Given the description of an element on the screen output the (x, y) to click on. 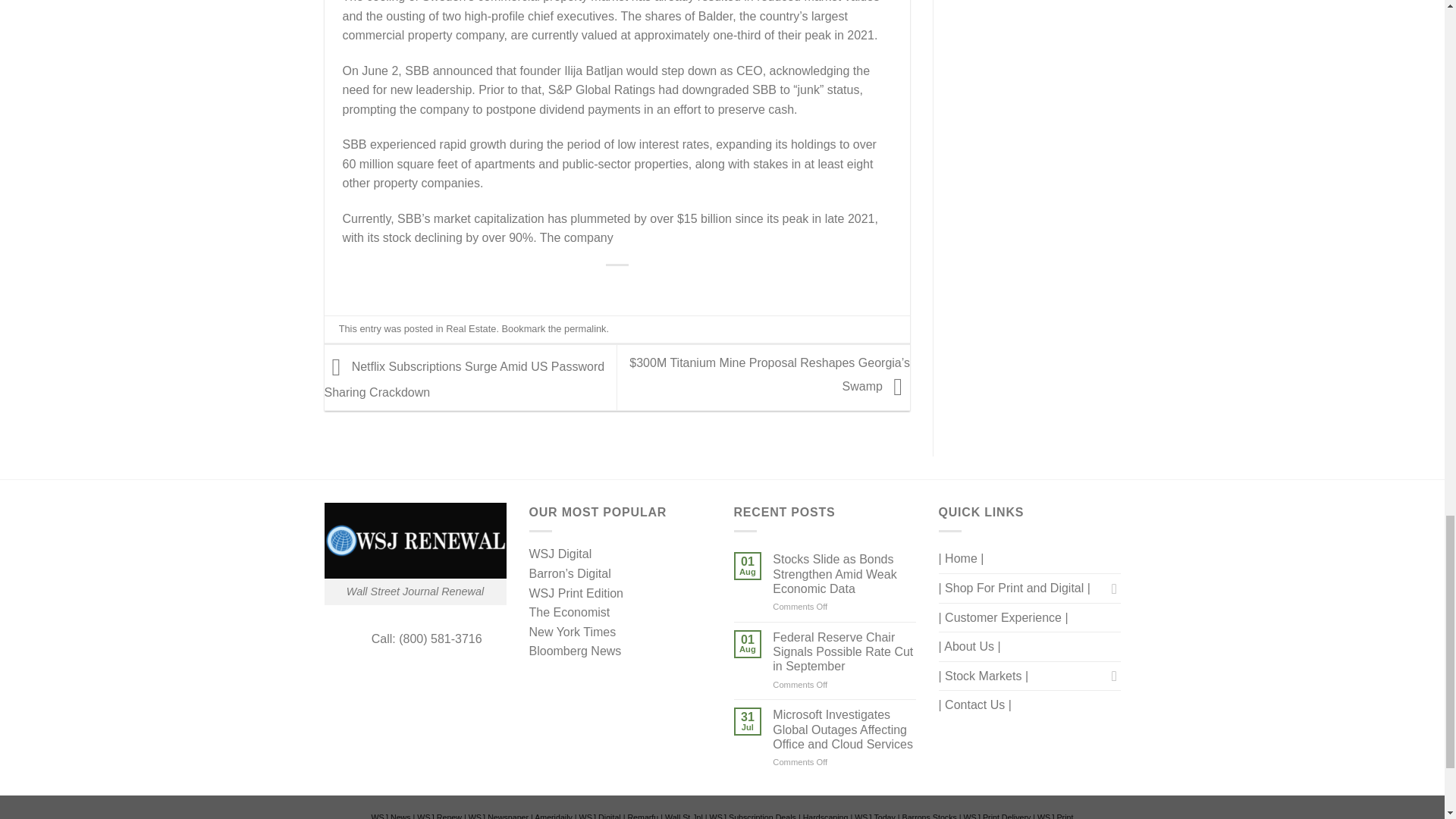
Federal Reserve Chair Signals Possible Rate Cut in September (844, 651)
Stocks Slide as Bonds Strengthen Amid Weak Economic Data (844, 574)
